Given the description of an element on the screen output the (x, y) to click on. 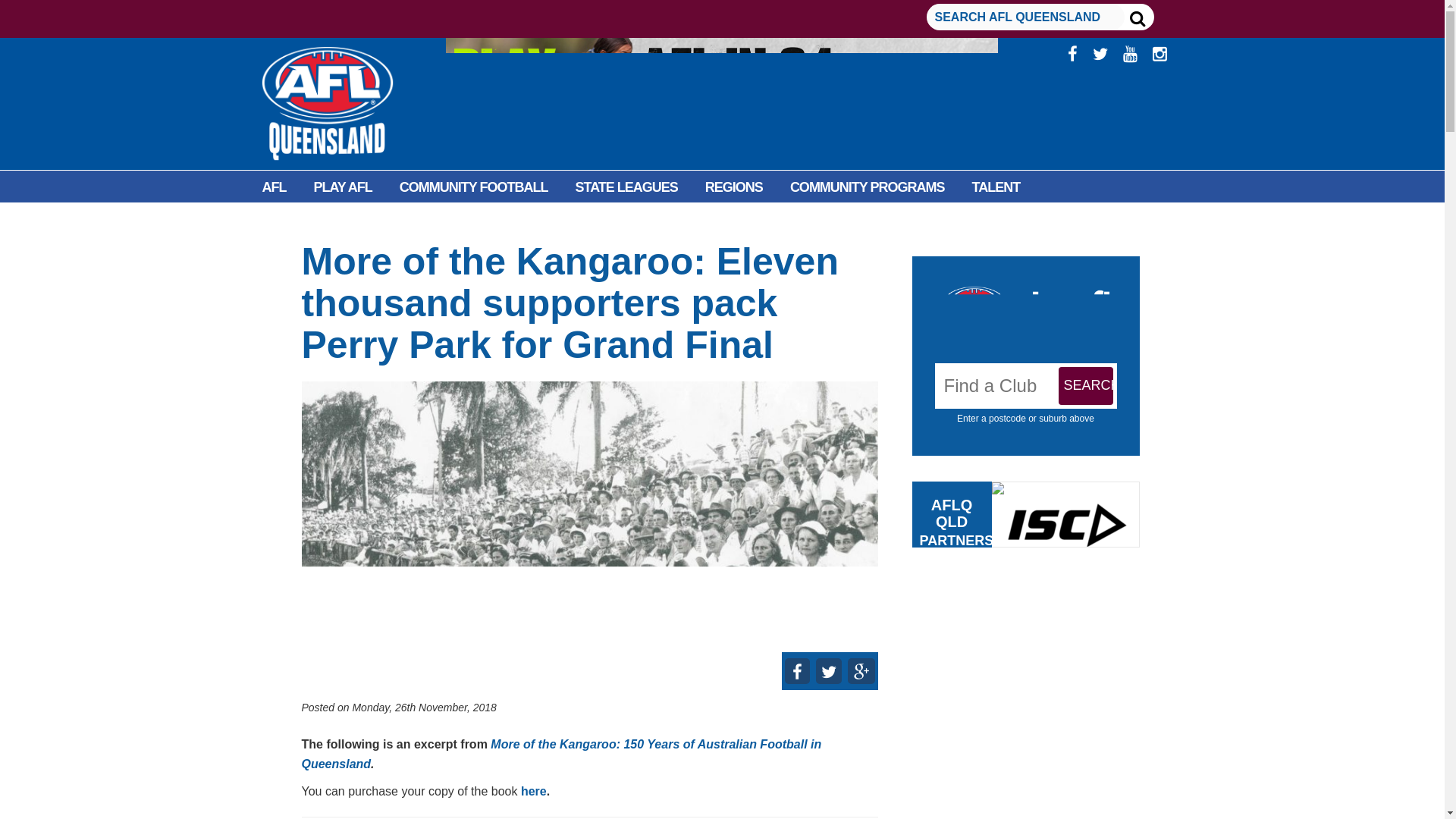
FACILITIES (295, 221)
AFL (273, 187)
INFORMATION HUB (414, 221)
REGIONS (733, 187)
Search (1085, 385)
STATE LEAGUES (626, 187)
PLAY AFL (342, 187)
Search (1085, 385)
COMMUNITY PROGRAMS (867, 187)
TALENT (995, 187)
